Given the description of an element on the screen output the (x, y) to click on. 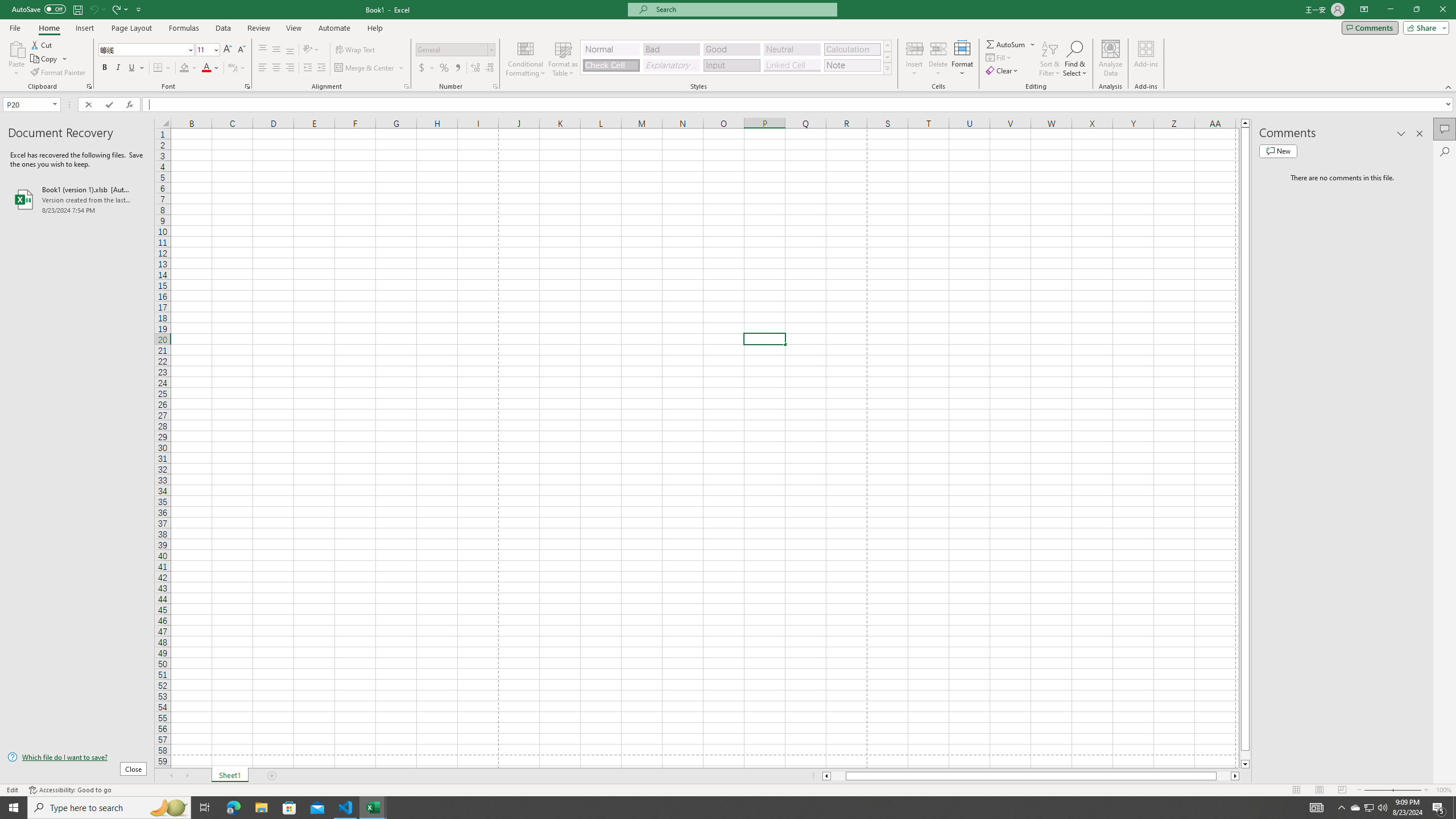
Task Pane Options (1400, 133)
Insert Cells (914, 48)
Underline (131, 67)
Sort & Filter (1049, 58)
Ribbon Display Options (1364, 9)
Input (731, 65)
Decrease Indent (307, 67)
Bold (104, 67)
Line up (1245, 122)
Search (1444, 151)
Center (276, 67)
Note (852, 65)
Sum (1006, 44)
Format Cell Font (247, 85)
Page down (1245, 755)
